Given the description of an element on the screen output the (x, y) to click on. 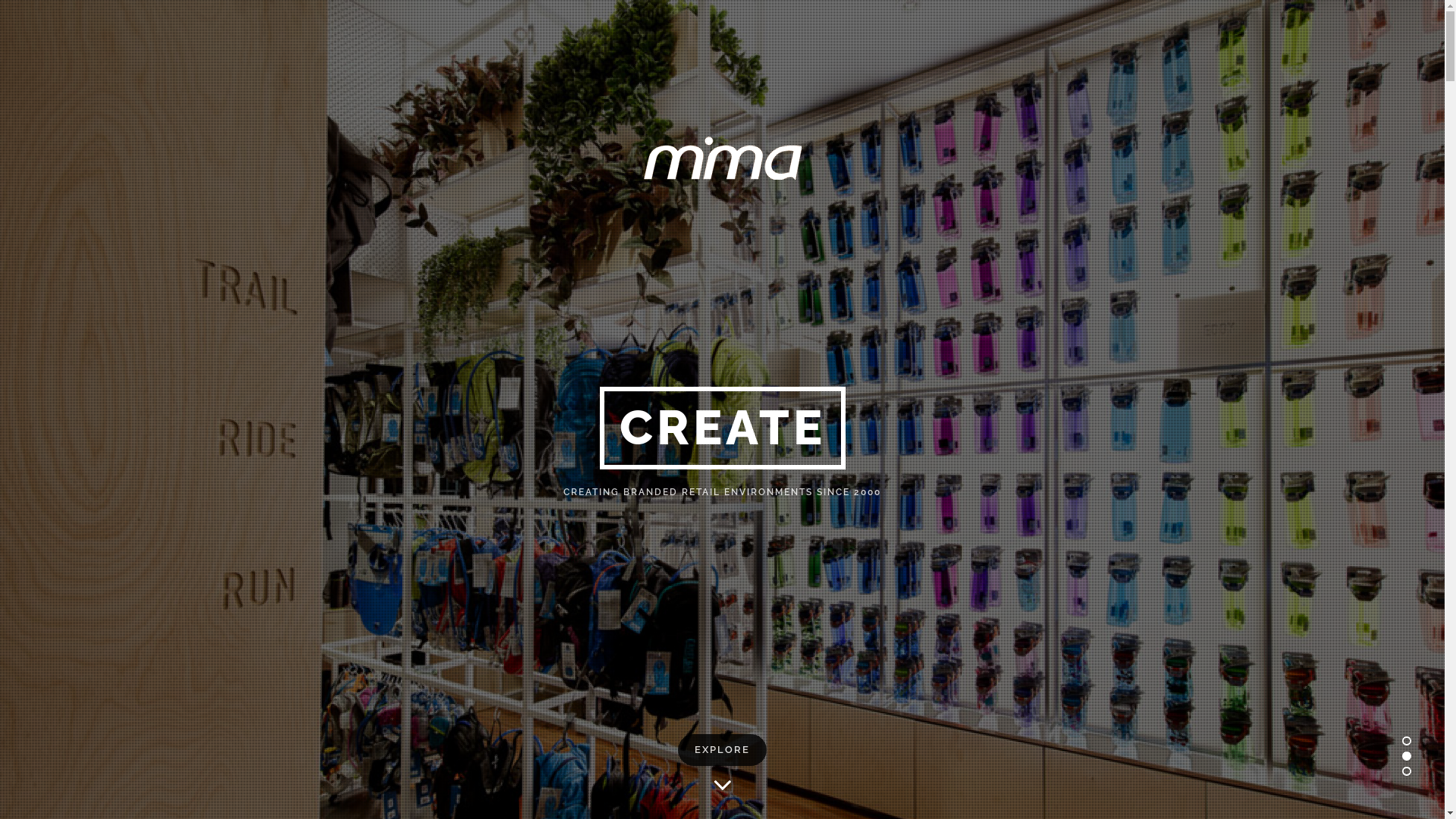
EXPLORE Element type: text (721, 749)
